Given the description of an element on the screen output the (x, y) to click on. 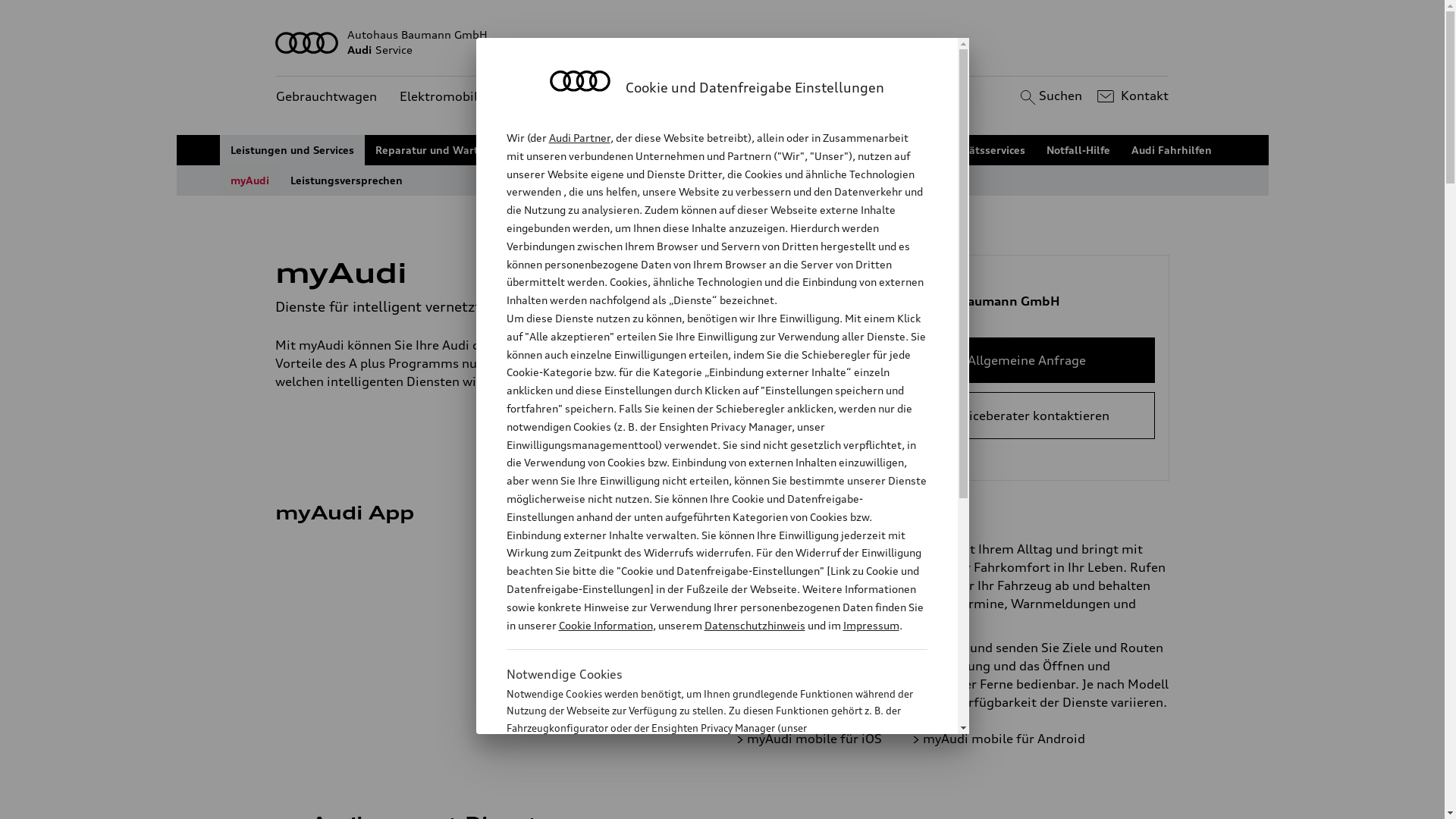
Ihre Ansprechpartner Element type: text (688, 149)
Allgemeine Anfrage Element type: text (1025, 359)
Serviceberater kontaktieren Element type: text (1025, 415)
Leistungsversprechen Element type: text (346, 180)
Angebote Element type: text (550, 96)
Kundenservice Element type: text (645, 96)
Audi Fahrhilfen Element type: text (1171, 149)
Cookie Information Element type: text (605, 624)
Autohaus Baumann GmbH
AudiService Element type: text (722, 42)
Cookie Information Element type: text (700, 802)
Datenschutzhinweis Element type: text (753, 624)
Impressum Element type: text (871, 624)
Reparatur und Wartung Element type: text (436, 149)
Kontakt Element type: text (1130, 96)
Audi Partner Element type: text (579, 137)
Gebrauchtwagen Element type: text (326, 96)
Leistungen und Services Element type: text (291, 149)
Suchen Element type: text (1049, 96)
myAudi Element type: text (249, 180)
Notfall-Hilfe Element type: text (1077, 149)
Garantie Element type: text (889, 149)
Versicherungen Element type: text (805, 149)
